Given the description of an element on the screen output the (x, y) to click on. 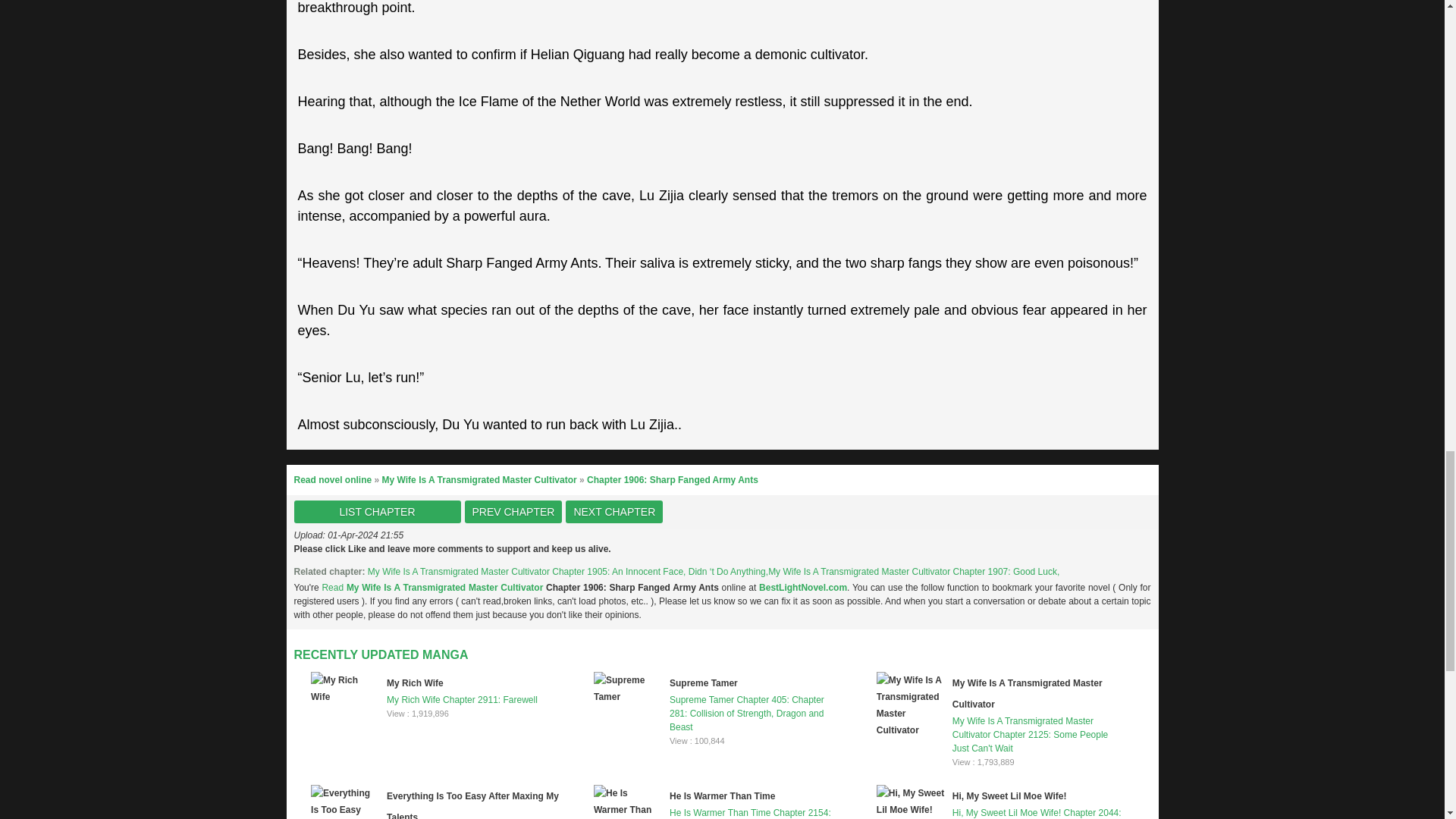
My Rich Wife (415, 683)
NEXT CHAPTER (614, 511)
Chapter 1906: Sharp Fanged Army Ants (672, 480)
Read My Wife Is A Transmigrated Master Cultivator novel (433, 587)
My Wife Is A Transmigrated Master Cultivator (1027, 694)
Read novel online (333, 480)
Read My Wife Is A Transmigrated Master Cultivator (433, 587)
My Rich Wife Chapter 2911: Farewell (435, 688)
My Rich Wife Chapter 2911: Farewell (435, 688)
PREV CHAPTER (513, 511)
My Rich Wife (415, 683)
Read novel online (333, 480)
